Given the description of an element on the screen output the (x, y) to click on. 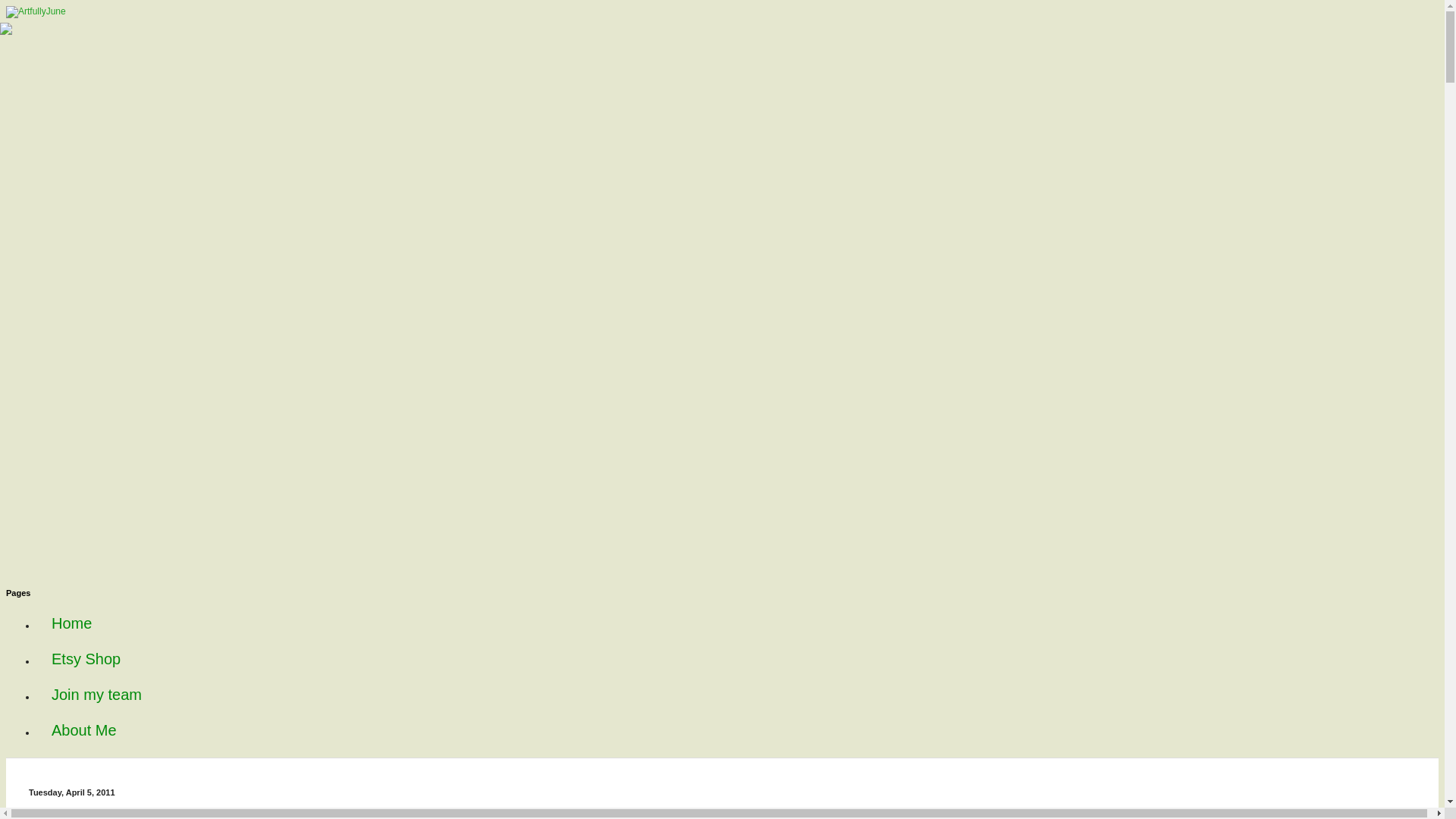
Join my team (96, 694)
Etsy Shop (85, 659)
Home (71, 623)
About Me (84, 730)
